Given the description of an element on the screen output the (x, y) to click on. 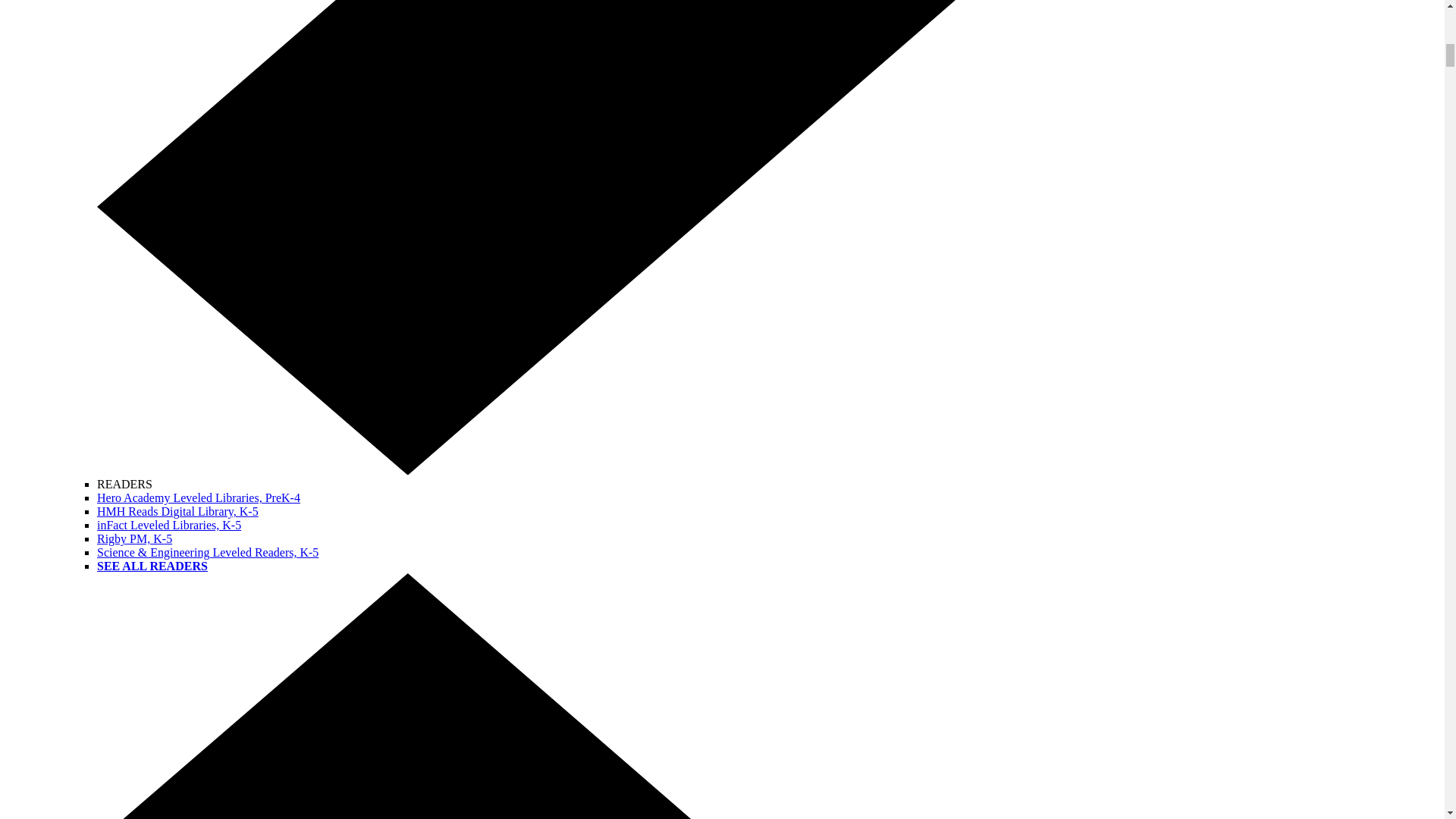
inFact Leveled Libraries, K-5 (169, 524)
HMH Reads Digital Library, K-5 (178, 511)
Hero Academy Leveled Libraries, PreK-4 (198, 497)
Rigby PM, K-5 (134, 538)
HMH Reads Digital Library, K-5 (178, 511)
Hero Academy Leveled Libraries, PreK-4 (198, 497)
inFact Leveled Libraries, K-5 (169, 524)
Rigby PM, K-5 (134, 538)
